Given the description of an element on the screen output the (x, y) to click on. 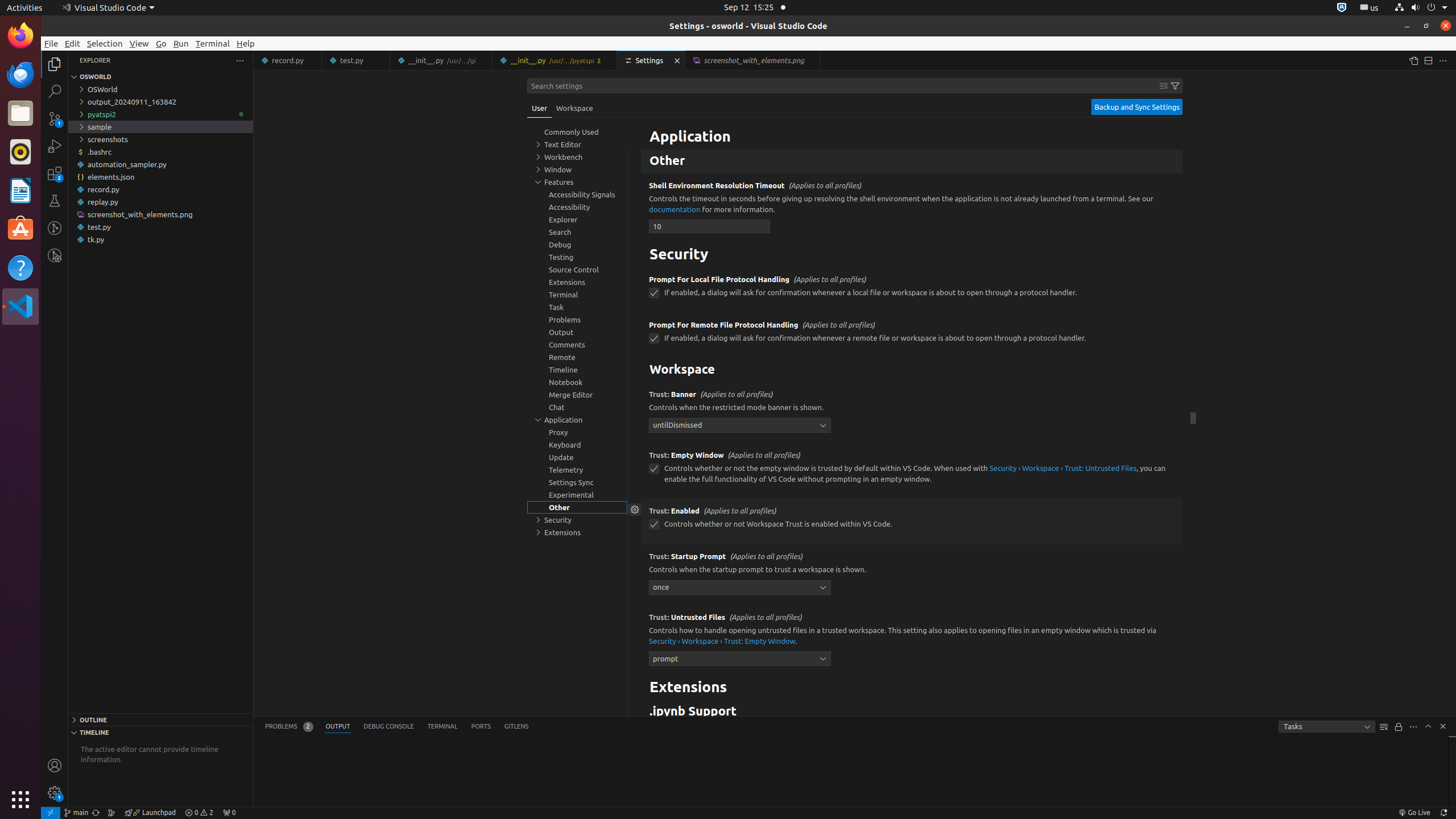
Features, group Element type: tree-item (577, 181)
Explorer Section: osworld Element type: push-button (160, 76)
Tasks Element type: menu-item (1326, 726)
Debug Console (Ctrl+Shift+Y) Element type: page-tab (388, 726)
elements.json Element type: tree-item (160, 176)
